Given the description of an element on the screen output the (x, y) to click on. 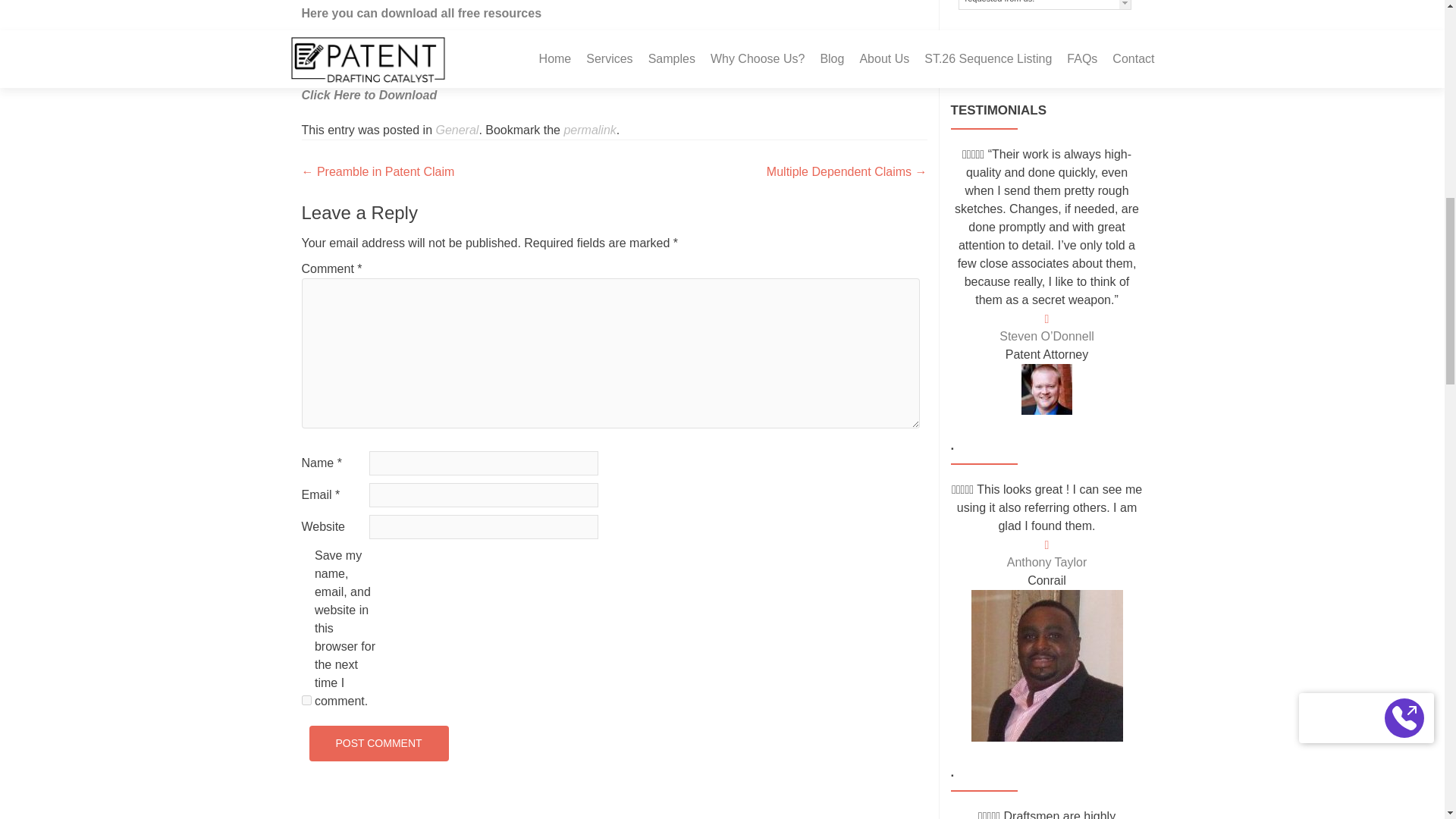
General (457, 129)
Click Here to Download (369, 94)
Submit (999, 53)
yes (306, 700)
Here you can download all free resources (421, 12)
Post Comment (378, 743)
permalink (589, 129)
